Given the description of an element on the screen output the (x, y) to click on. 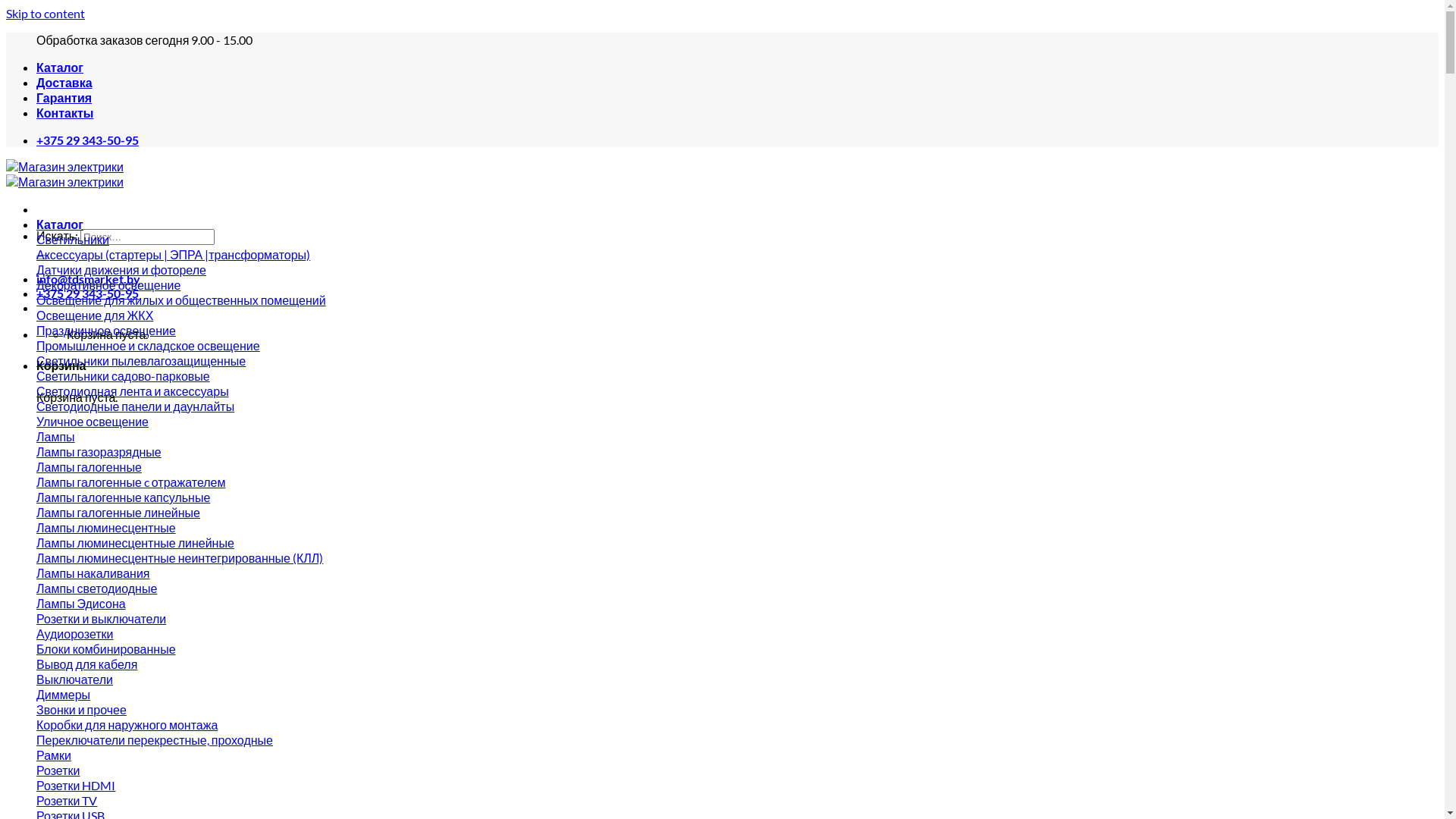
+375 29 343-50-95 Element type: text (87, 292)
info@tdsmarket.by Element type: text (88, 278)
Skip to content Element type: text (45, 13)
+375 29 343-50-95 Element type: text (87, 139)
